Given the description of an element on the screen output the (x, y) to click on. 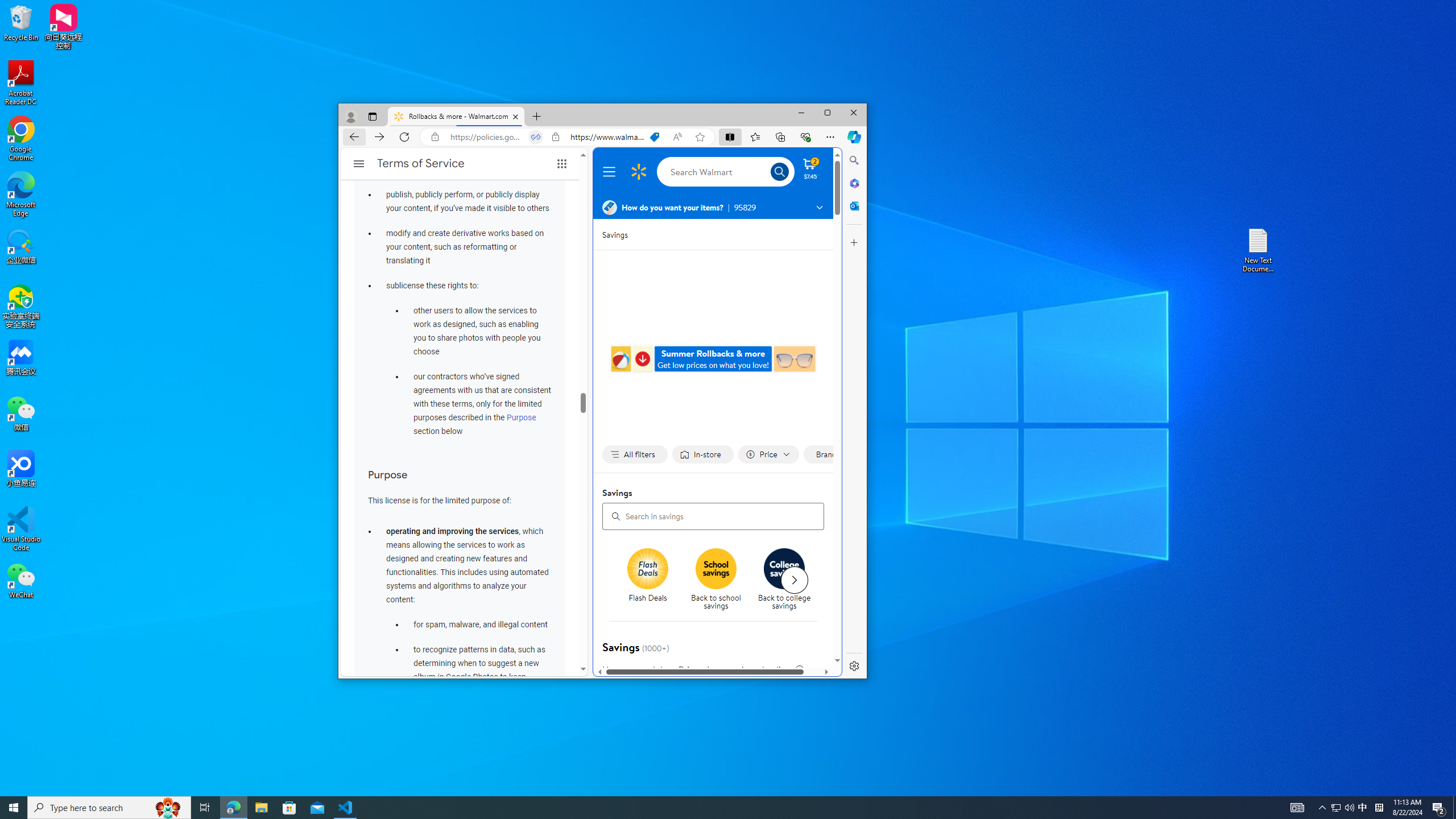
Maximize (826, 112)
legal information (798, 669)
Microsoft Edge (21, 194)
Microsoft Store (289, 807)
Visual Studio Code (21, 528)
Visual Studio Code - 1 running window (345, 807)
Summer Rollbacks & more Get low prices on what you love! (1335, 807)
Back to College savings Back to college savings (712, 358)
